Given the description of an element on the screen output the (x, y) to click on. 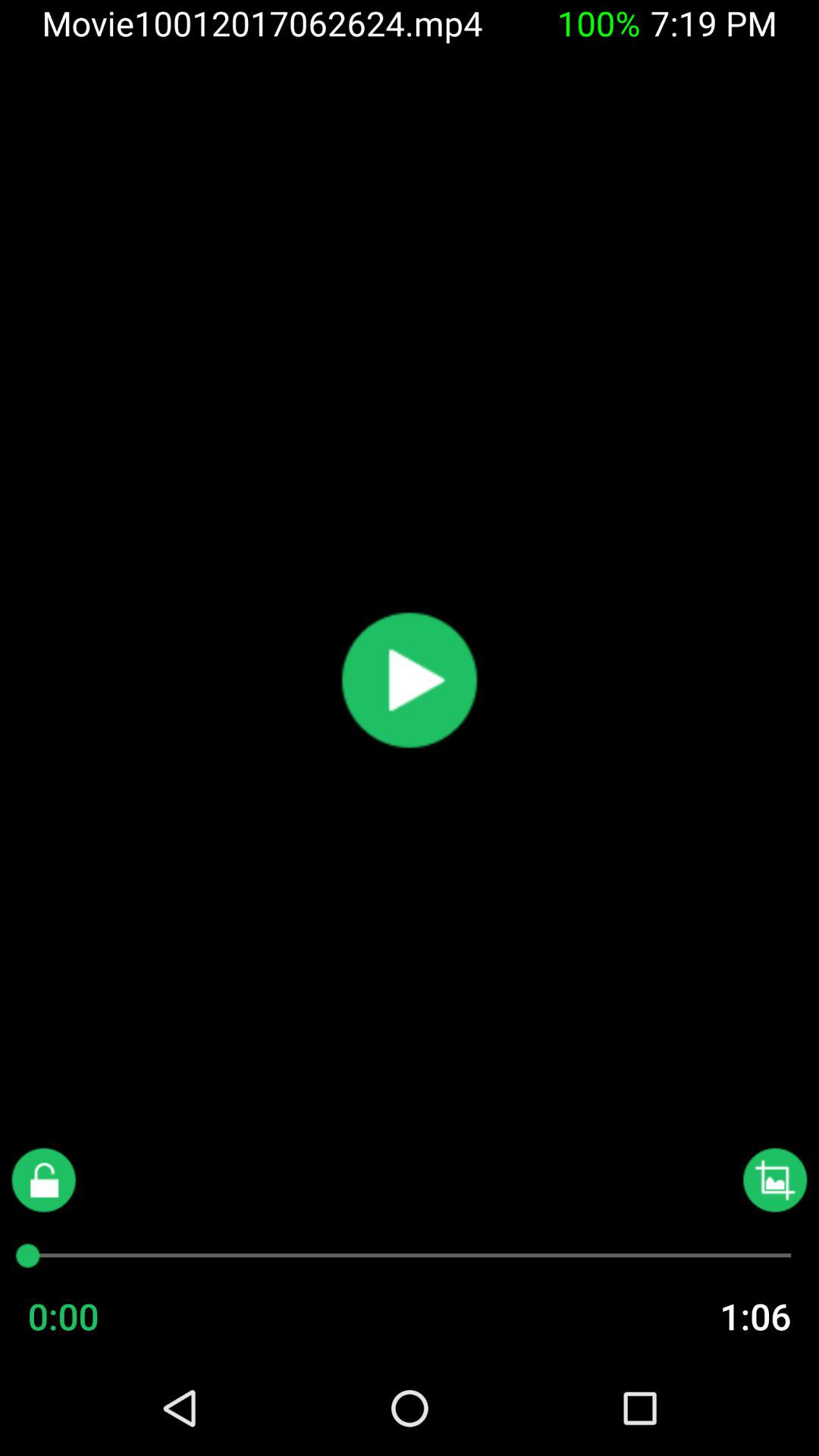
turn off icon to the left of the 1:06 (93, 1315)
